Given the description of an element on the screen output the (x, y) to click on. 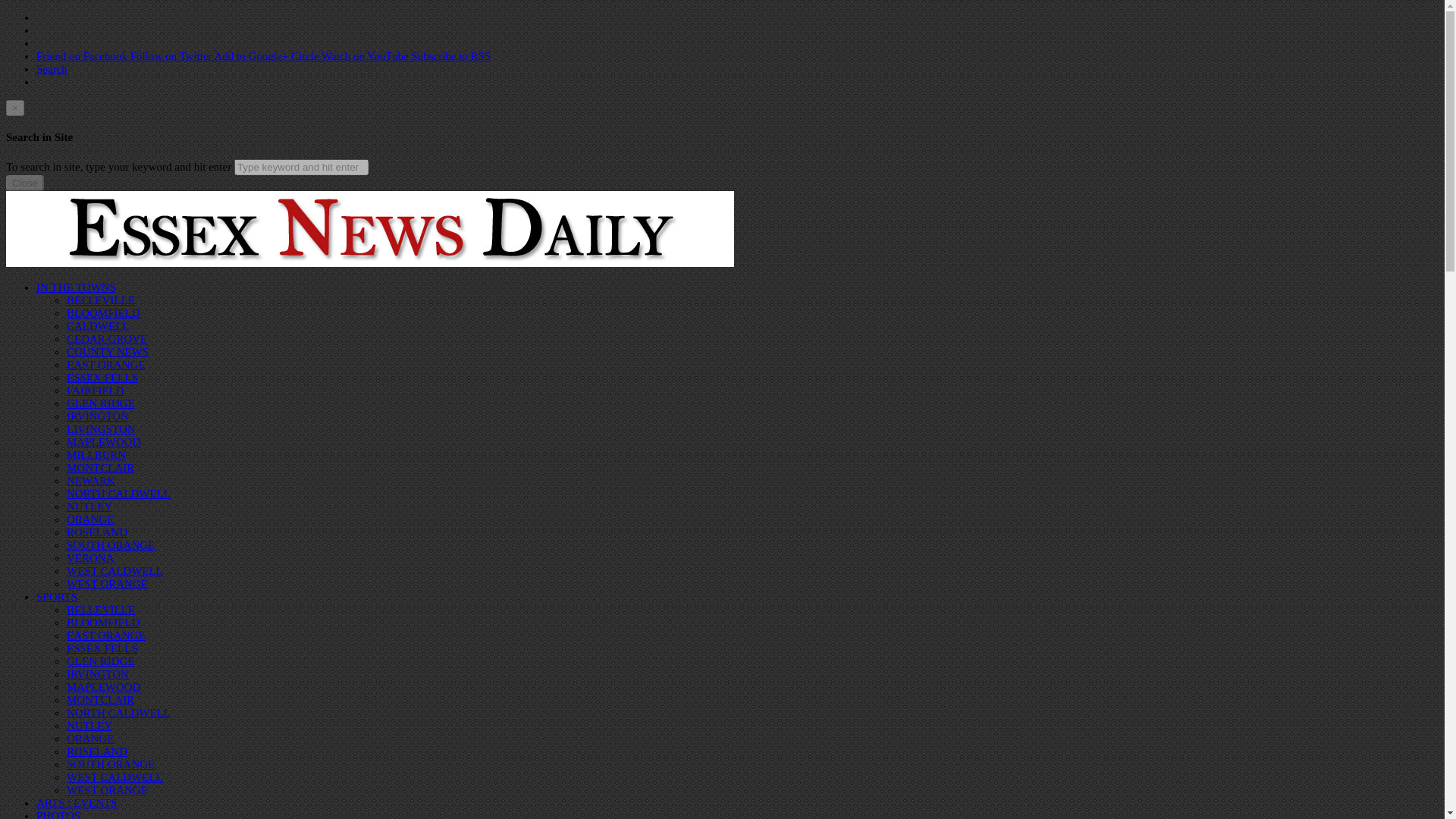
Search (51, 69)
BLOOMFIELD (102, 622)
IRVINGTON (97, 416)
LIVINGSTON (100, 428)
SOUTH ORANGE (110, 544)
NEWARK (90, 480)
Essex County's Local Source (369, 263)
Friend on Facebook (83, 55)
GLEN RIDGE (100, 661)
Twitter (172, 55)
CALDWELL (97, 326)
ESSEX FELLS (102, 648)
BELLEVILLE (100, 609)
Essex News Daily (369, 228)
ESSEX FELLS (102, 377)
